Given the description of an element on the screen output the (x, y) to click on. 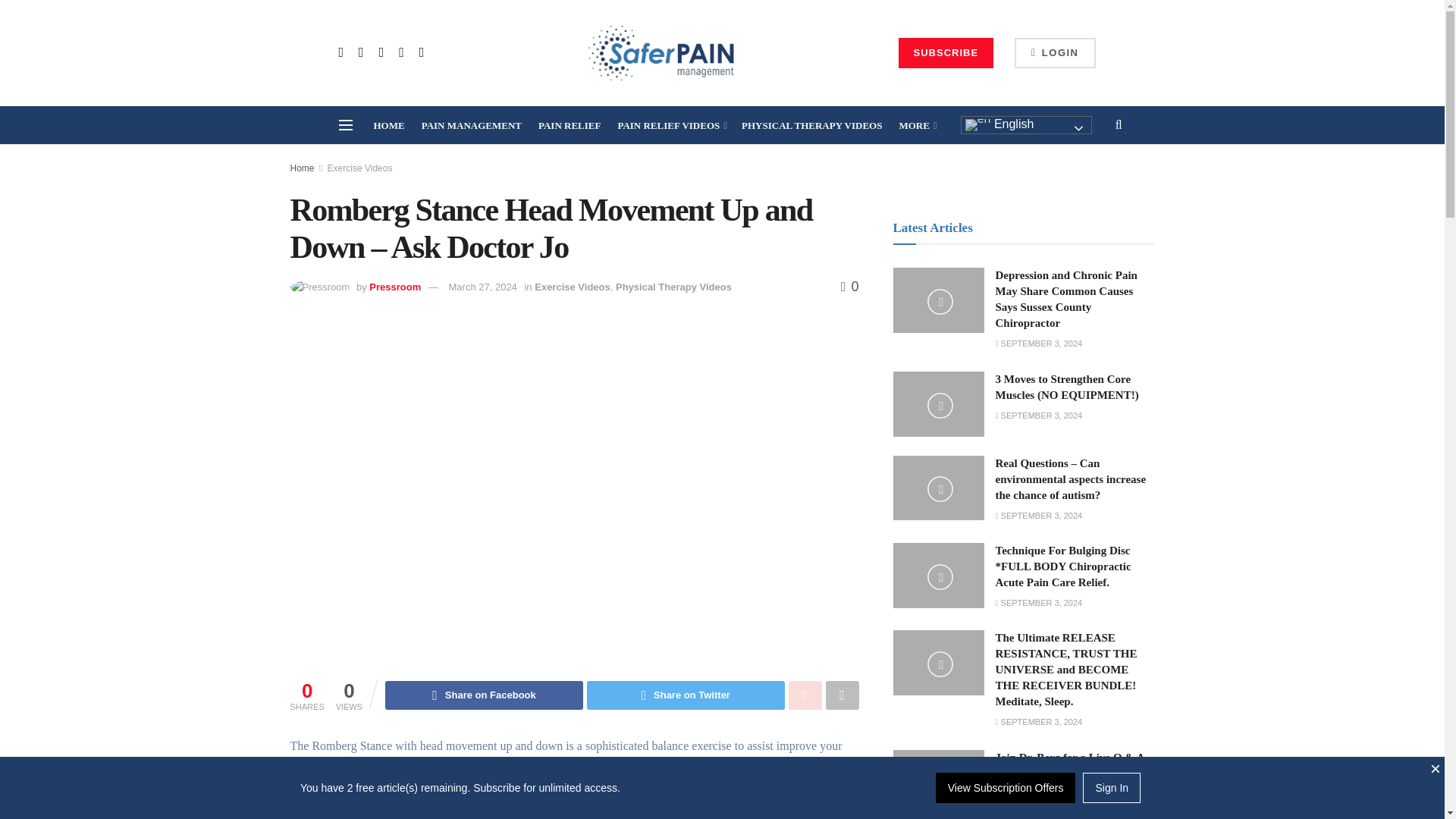
English (1026, 125)
HOME (388, 125)
PAIN RELIEF VIDEOS (671, 125)
SUBSCRIBE (946, 52)
PAIN RELIEF (568, 125)
MORE (916, 125)
PAIN MANAGEMENT (471, 125)
PHYSICAL THERAPY VIDEOS (811, 125)
LOGIN (1054, 52)
